Given the description of an element on the screen output the (x, y) to click on. 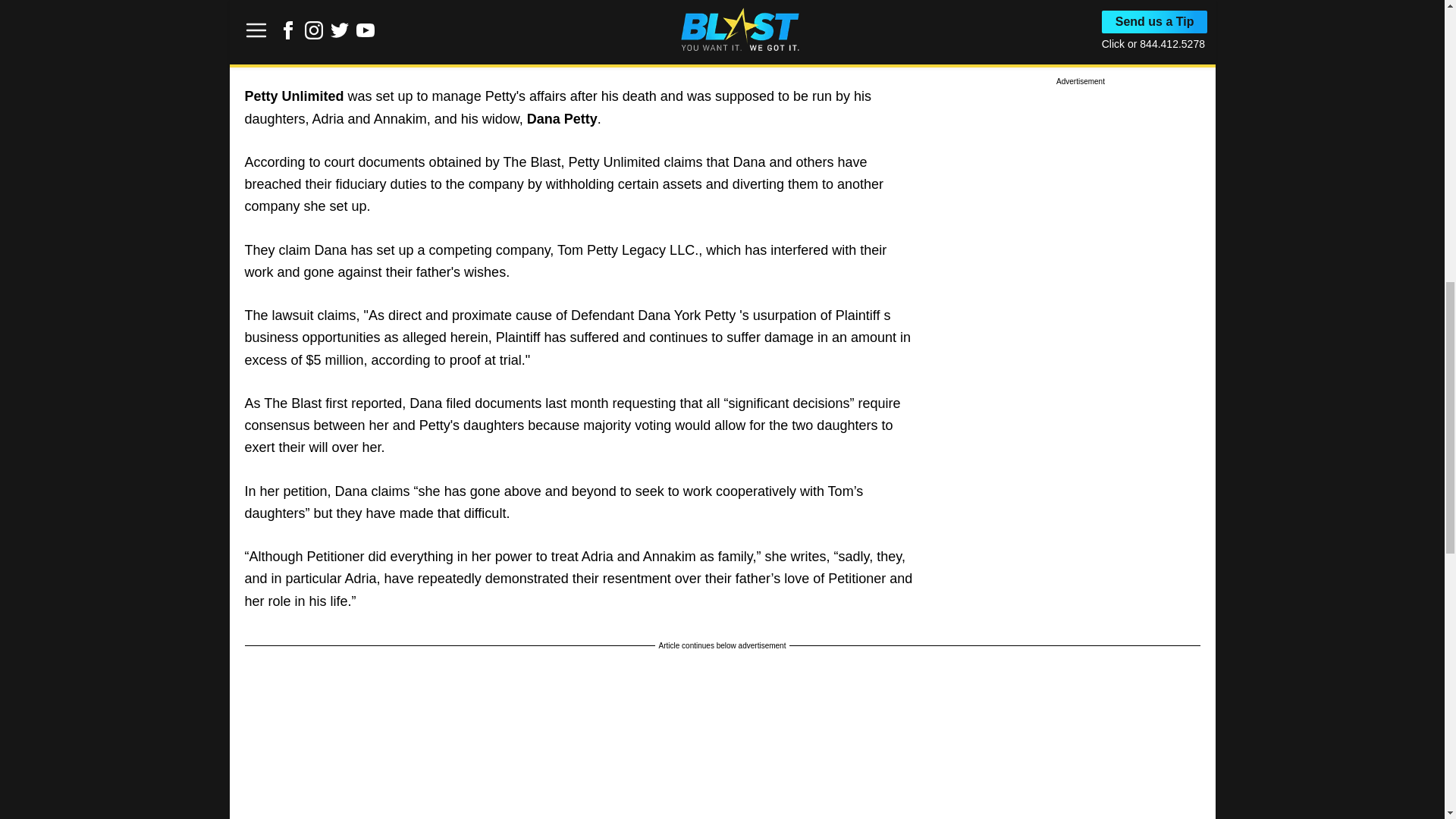
Tom Petty (276, 30)
3rd party ad content (1079, 65)
